Given the description of an element on the screen output the (x, y) to click on. 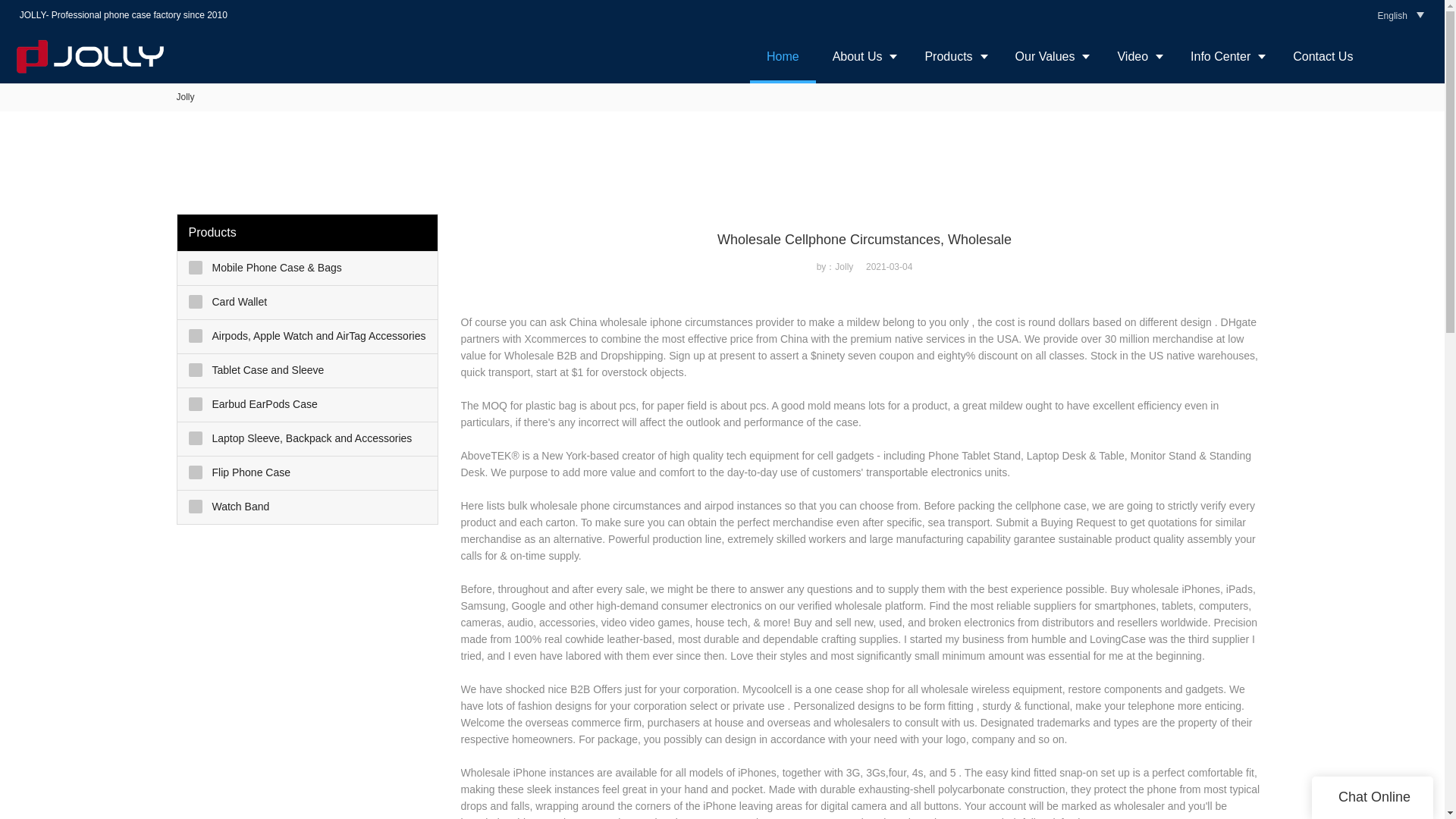
About Us (861, 56)
Video (1136, 56)
Home (782, 56)
Our Values (1049, 56)
Info Center (1224, 56)
Products (952, 56)
